Given the description of an element on the screen output the (x, y) to click on. 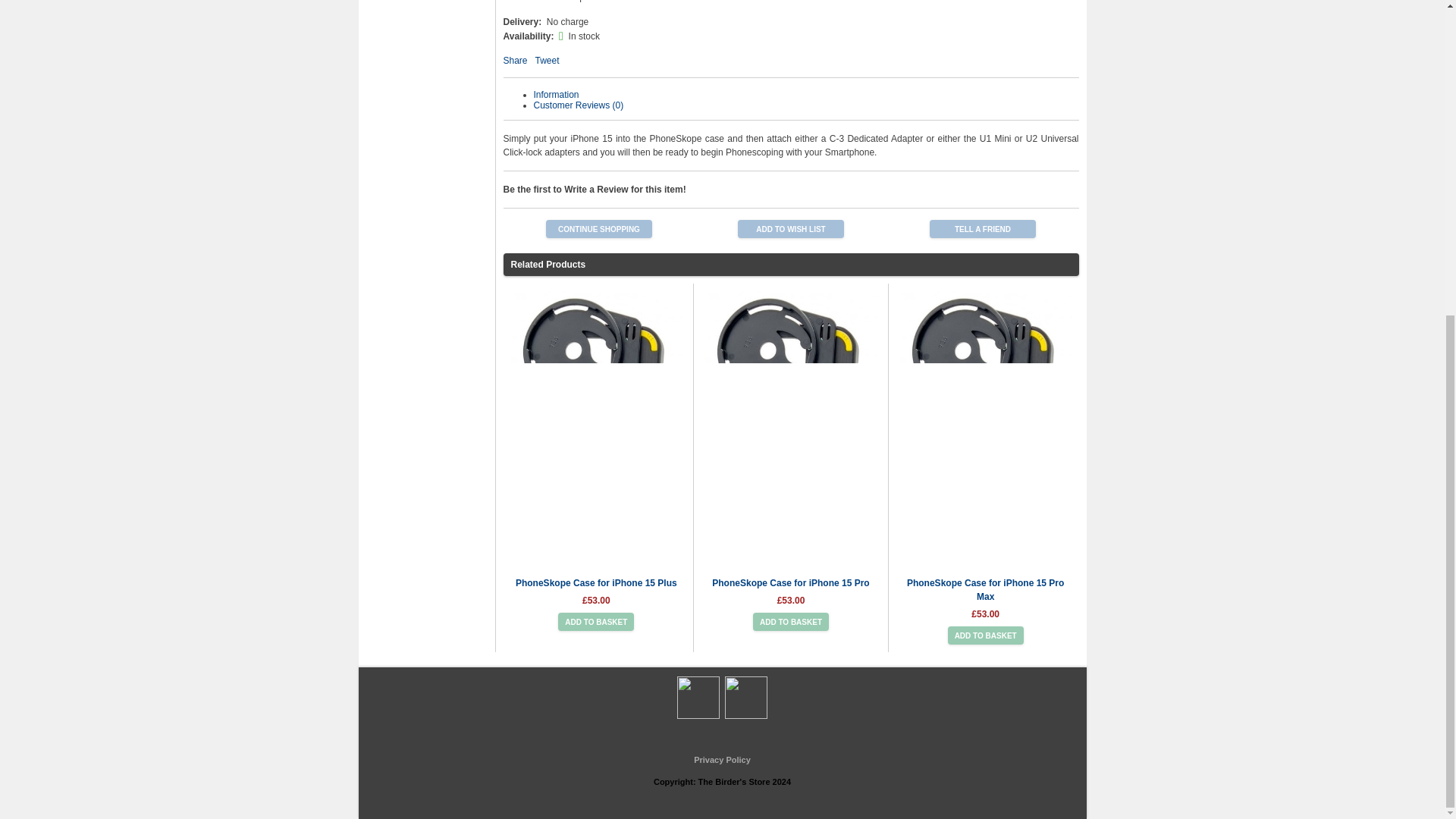
CONTINUE SHOPPING (599, 229)
TELL A FRIEND (982, 229)
PhoneSkope Case for iPhone 15 Pro Max (985, 589)
ADD TO BASKET (790, 621)
PhoneSkope Case for iPhone 15 Pro (790, 583)
PhoneSkope Case for iPhone 15 Plus (596, 583)
Share (515, 60)
ADD TO WISH LIST (791, 229)
ADD TO BASKET (595, 621)
